Given the description of an element on the screen output the (x, y) to click on. 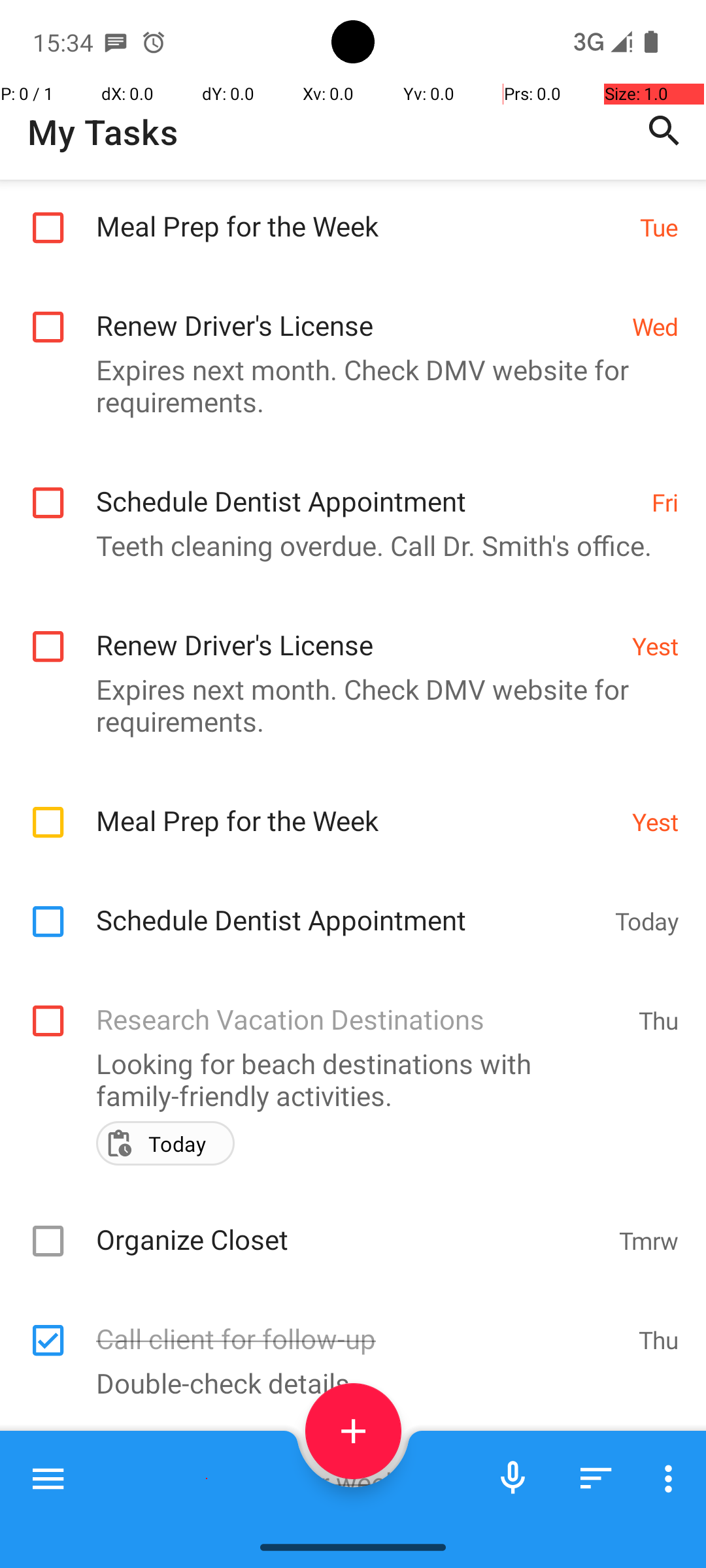
Call client for follow-up Element type: android.widget.TextView (360, 1324)
Double-check details. Element type: android.widget.TextView (346, 1382)
Prepare agenda for weekly meeting Element type: android.widget.TextView (360, 1468)
Complete survey. Element type: android.widget.TextView (346, 1516)
